Given the description of an element on the screen output the (x, y) to click on. 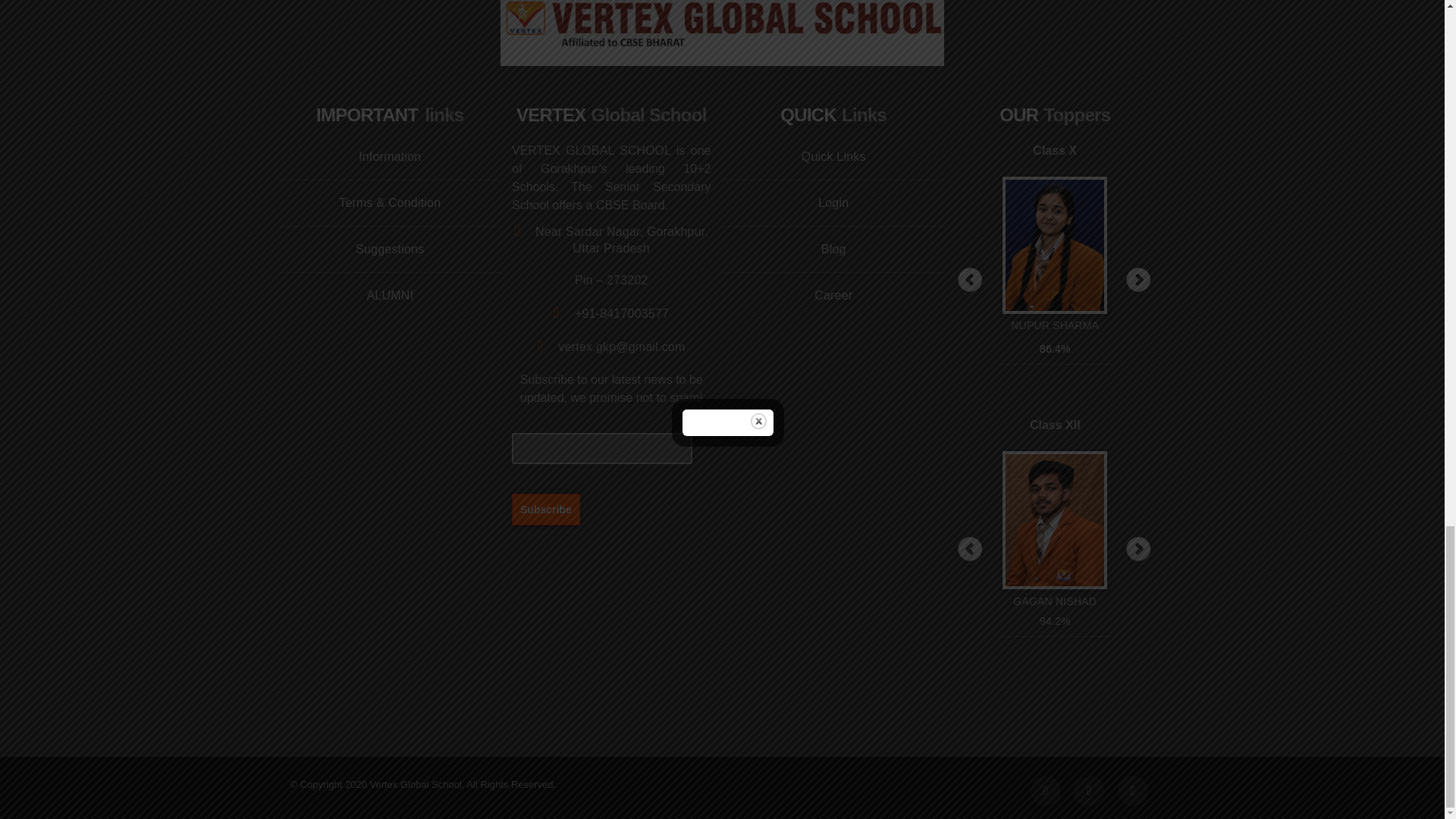
Subscribe (545, 508)
